Given the description of an element on the screen output the (x, y) to click on. 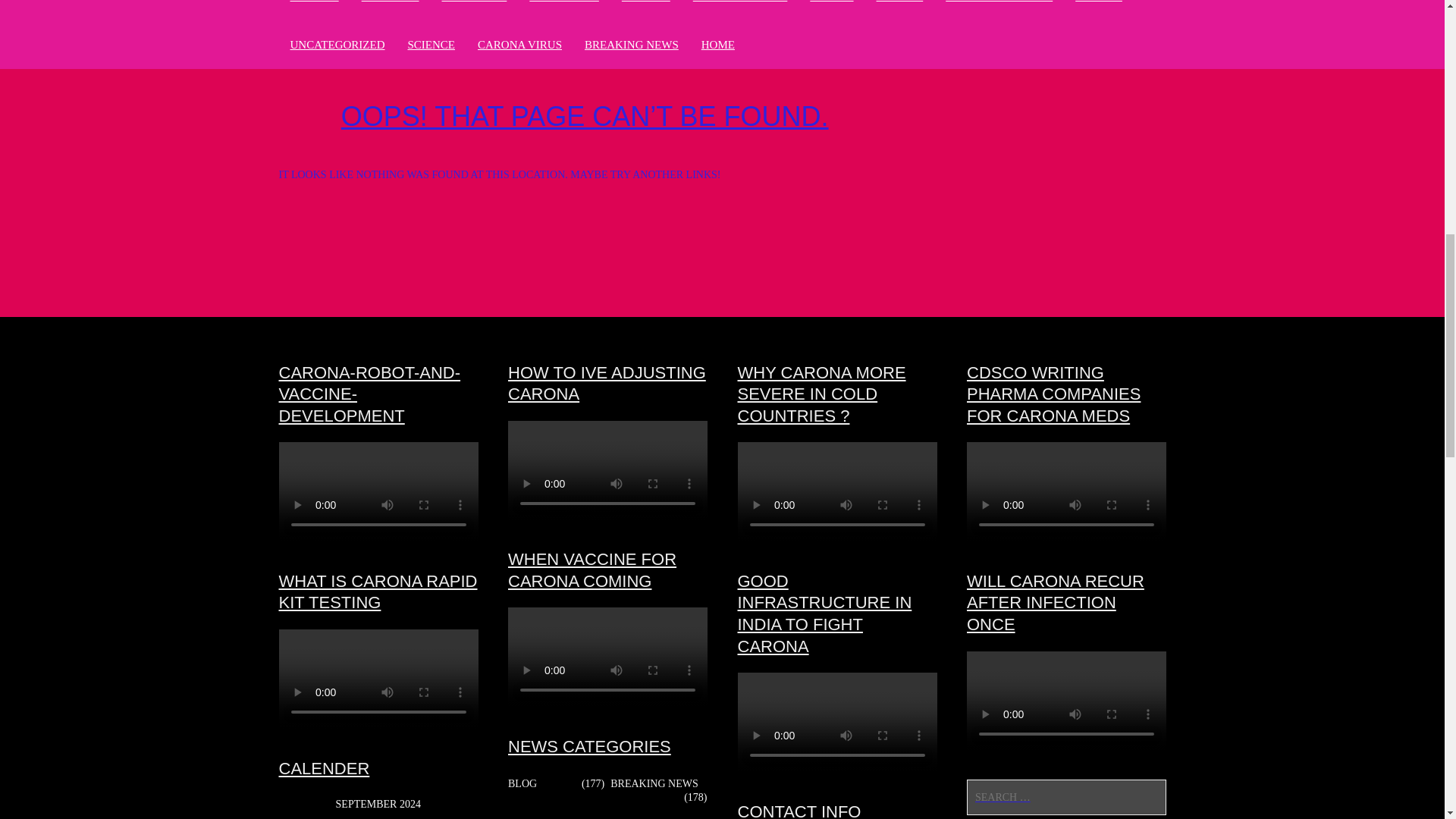
cricket (313, 4)
Viral News (563, 4)
HOME (718, 44)
Wednesday (349, 816)
Tuesday (321, 816)
TRENDING STORIES (998, 4)
Archieve (390, 4)
Monday (293, 816)
Thursday (378, 816)
GAMING (1098, 4)
